Given the description of an element on the screen output the (x, y) to click on. 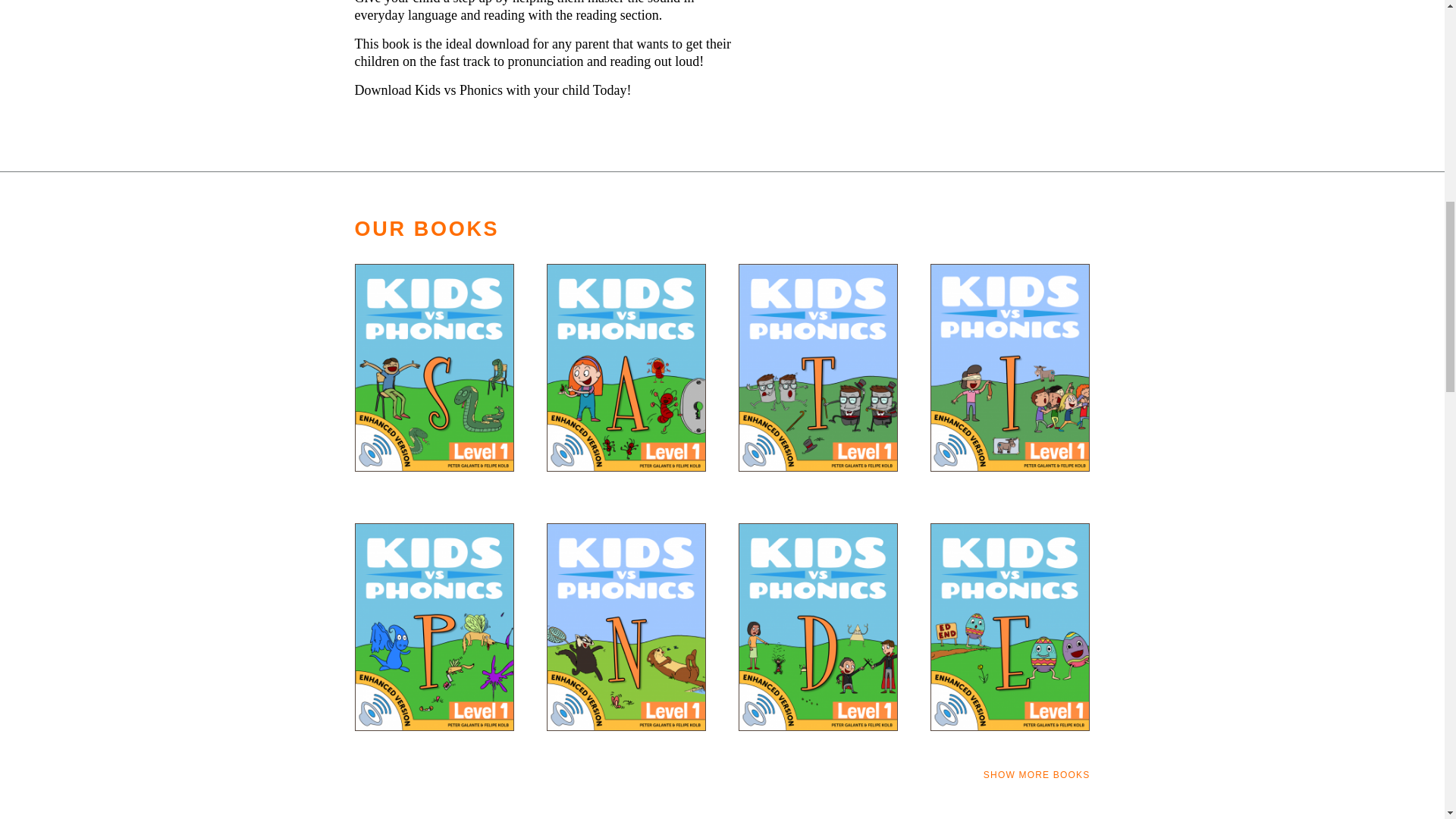
SHOW MORE BOOKS (1037, 774)
